Given the description of an element on the screen output the (x, y) to click on. 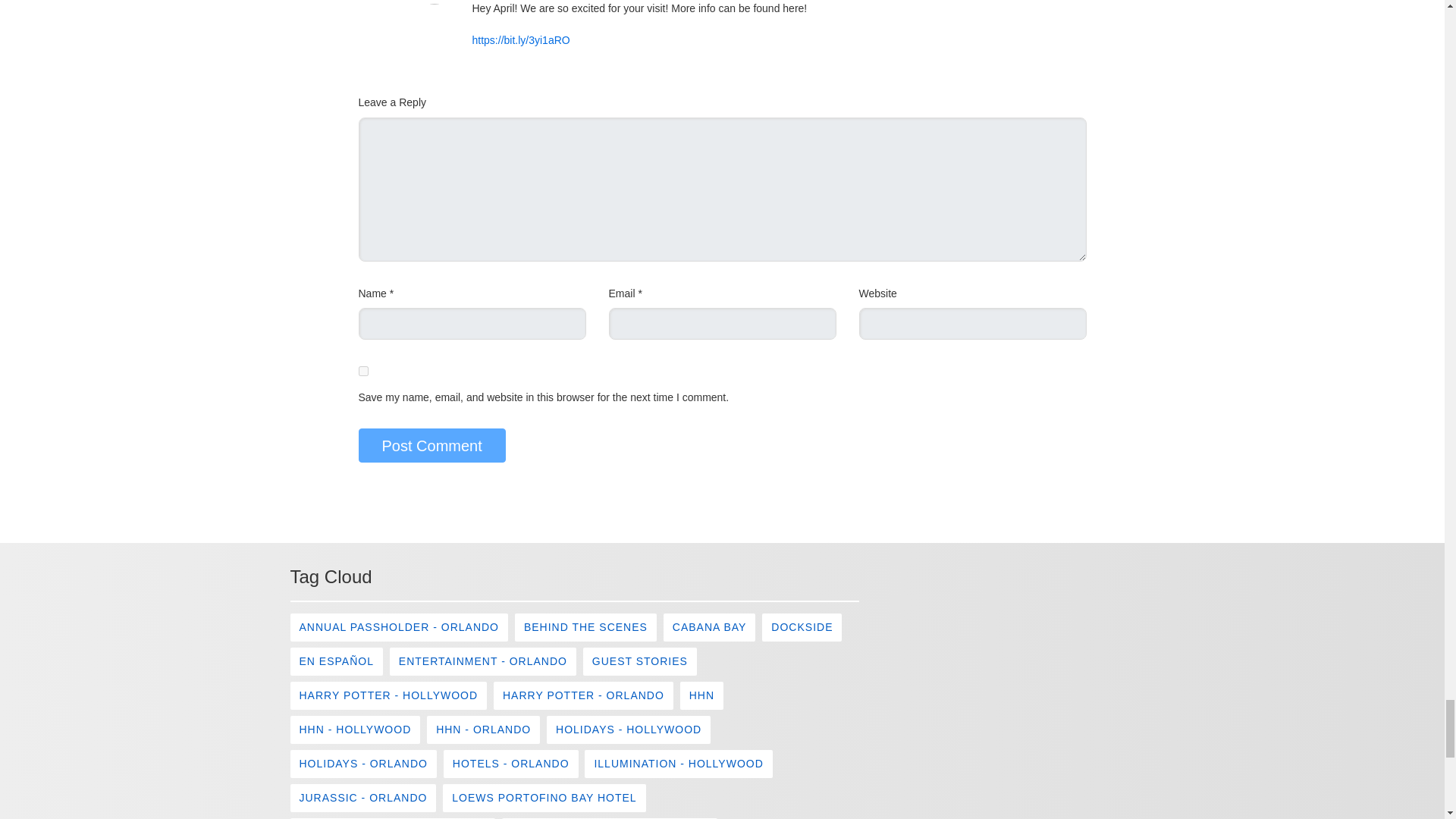
Post Comment (431, 445)
141 topics (335, 661)
4 topics (585, 627)
4 topics (709, 627)
4 topics (801, 627)
yes (363, 370)
7 topics (398, 627)
